Given the description of an element on the screen output the (x, y) to click on. 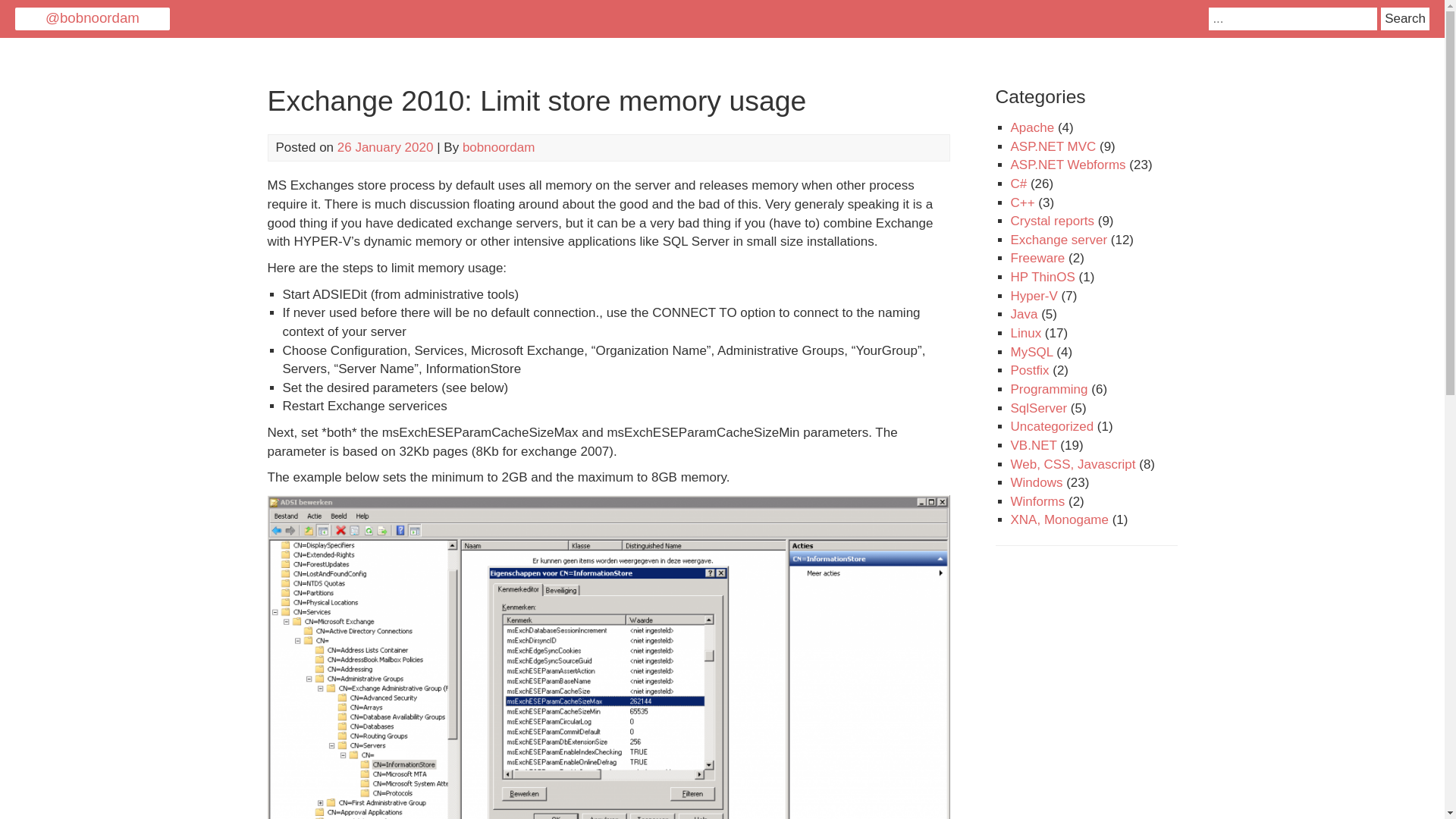
Freeware (1037, 257)
Postfix (1029, 370)
MySQL (1031, 351)
SqlServer (1038, 408)
Search (1404, 18)
26 January 2020 (385, 147)
Search (1404, 18)
Web, CSS, Javascript (1072, 464)
Exchange server (1058, 239)
Linux (1025, 332)
Windows (1036, 482)
Programming (1048, 389)
bobnoordam (498, 147)
Crystal reports (1052, 220)
ASP.NET MVC (1053, 146)
